Given the description of an element on the screen output the (x, y) to click on. 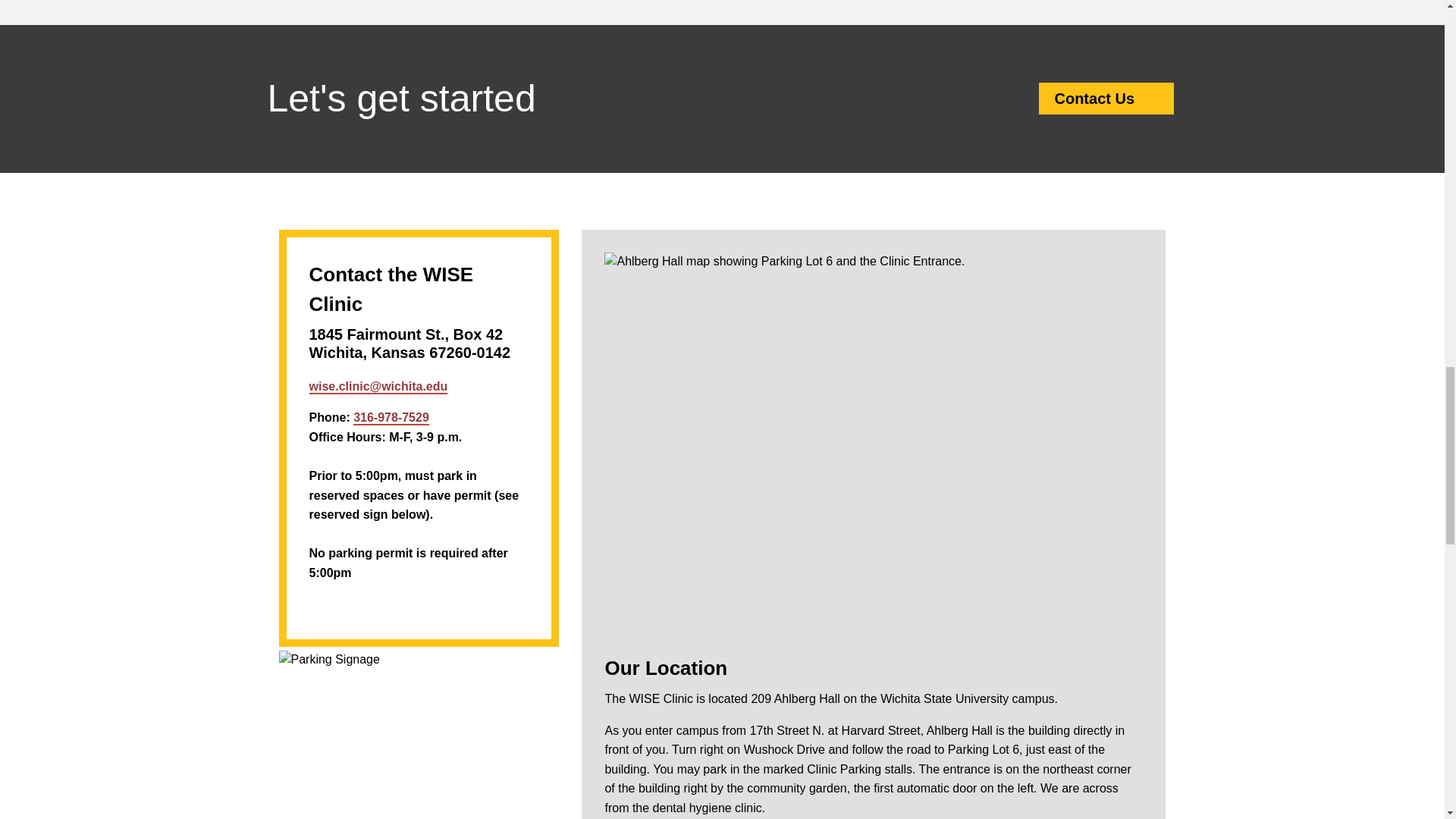
Contact Us (1150, 98)
